Given the description of an element on the screen output the (x, y) to click on. 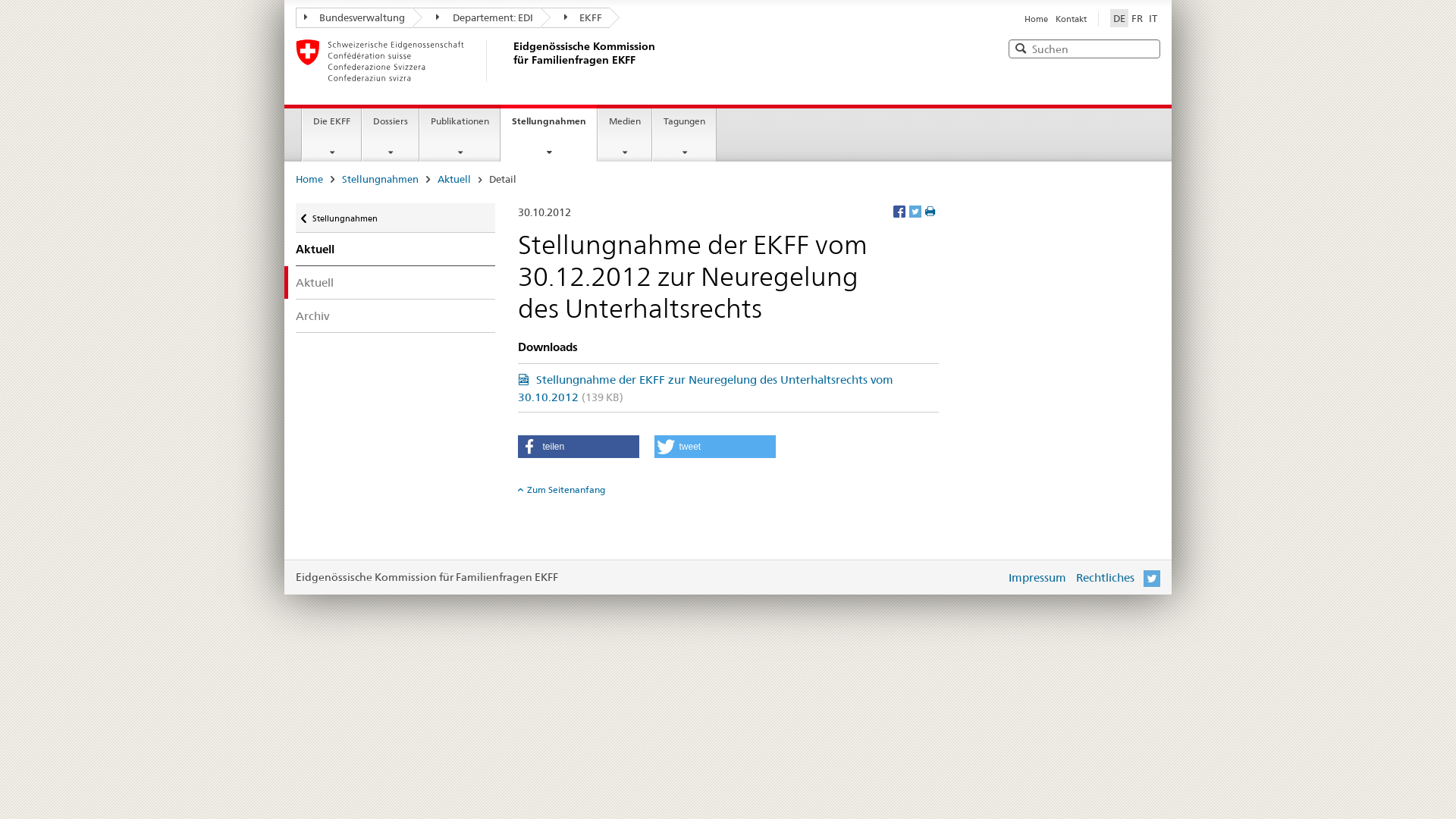
FR Element type: text (1136, 18)
print Element type: hover (931, 211)
Stellungnahmen Element type: text (395, 217)
Dossiers Element type: text (390, 134)
Aktuell Element type: text (453, 178)
tweet Element type: text (714, 446)
Tagungen Element type: text (683, 134)
Stellungnahmen Element type: text (380, 178)
Publikationen Element type: text (459, 134)
EKFF Element type: text (574, 17)
Impressum Element type: text (1037, 577)
Archiv Element type: text (395, 315)
Departement: EDI Element type: text (476, 17)
Bundesverwaltung Element type: text (353, 17)
Rechtliches Element type: text (1105, 577)
Aktuell Element type: text (395, 282)
EKFF COFF @ Twitter Element type: hover (1151, 577)
teilen Element type: text (577, 446)
Home Element type: text (309, 178)
DE Element type: text (1119, 18)
Zum Seitenanfang Element type: text (560, 489)
Stellungnahmen
aktuelle Seite Element type: text (548, 132)
Die EKFF Element type: text (331, 134)
Home Element type: text (1036, 18)
Kontakt Element type: text (1070, 18)
Medien Element type: text (624, 134)
IT Element type: text (1152, 18)
